Given the description of an element on the screen output the (x, y) to click on. 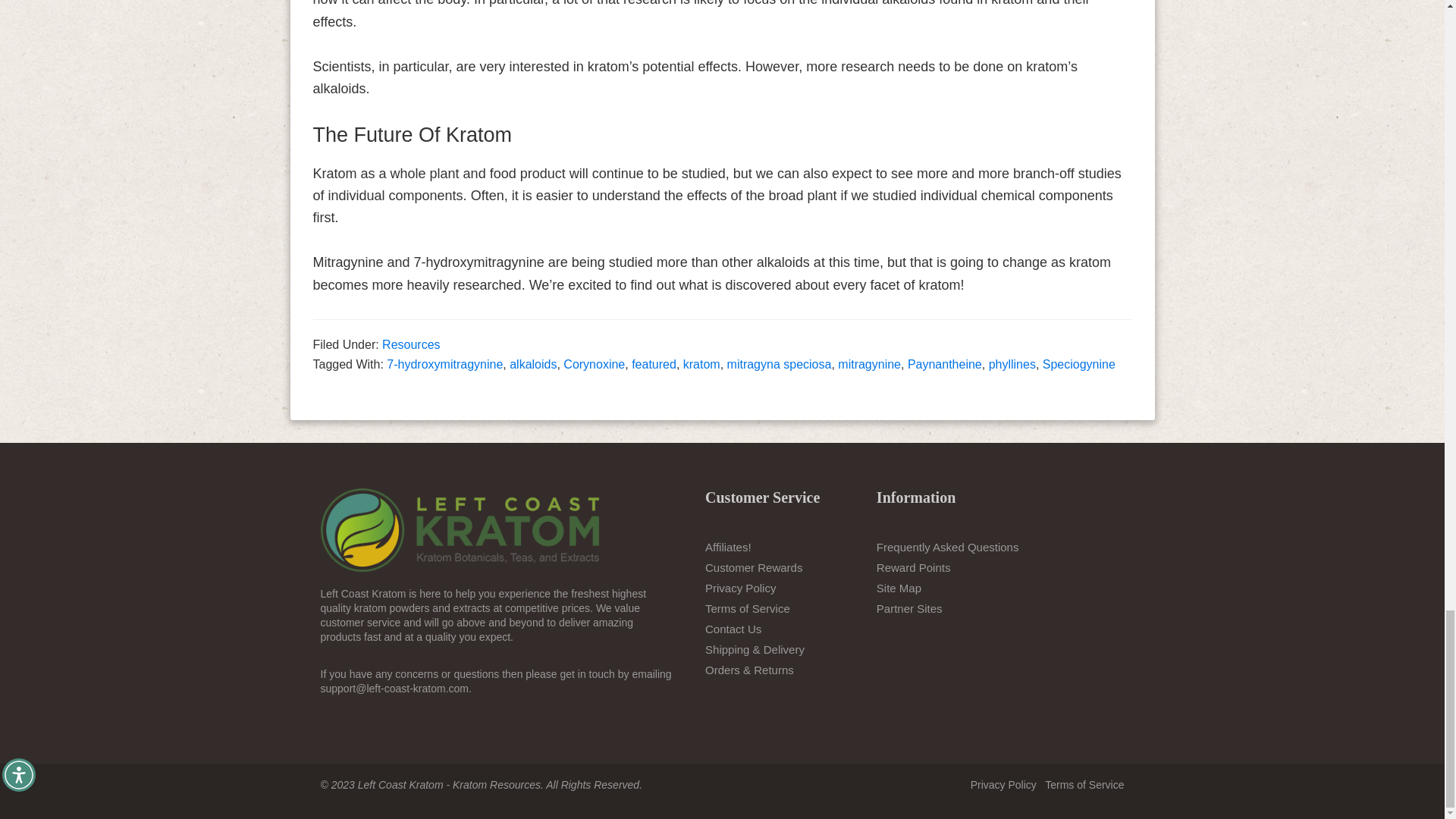
Terms of Service (747, 608)
Speciogynine (1078, 364)
7-hydroxymitragynine (444, 364)
Affiliates! (727, 546)
Site Map (898, 587)
Paynantheine (944, 364)
Left Coast Kratom (459, 529)
Affiliates (727, 546)
FAQ (947, 546)
phyllines (1011, 364)
Privacy Policy (1003, 784)
alkaloids (532, 364)
mitragyna speciosa (778, 364)
kratom (701, 364)
featured (654, 364)
